Given the description of an element on the screen output the (x, y) to click on. 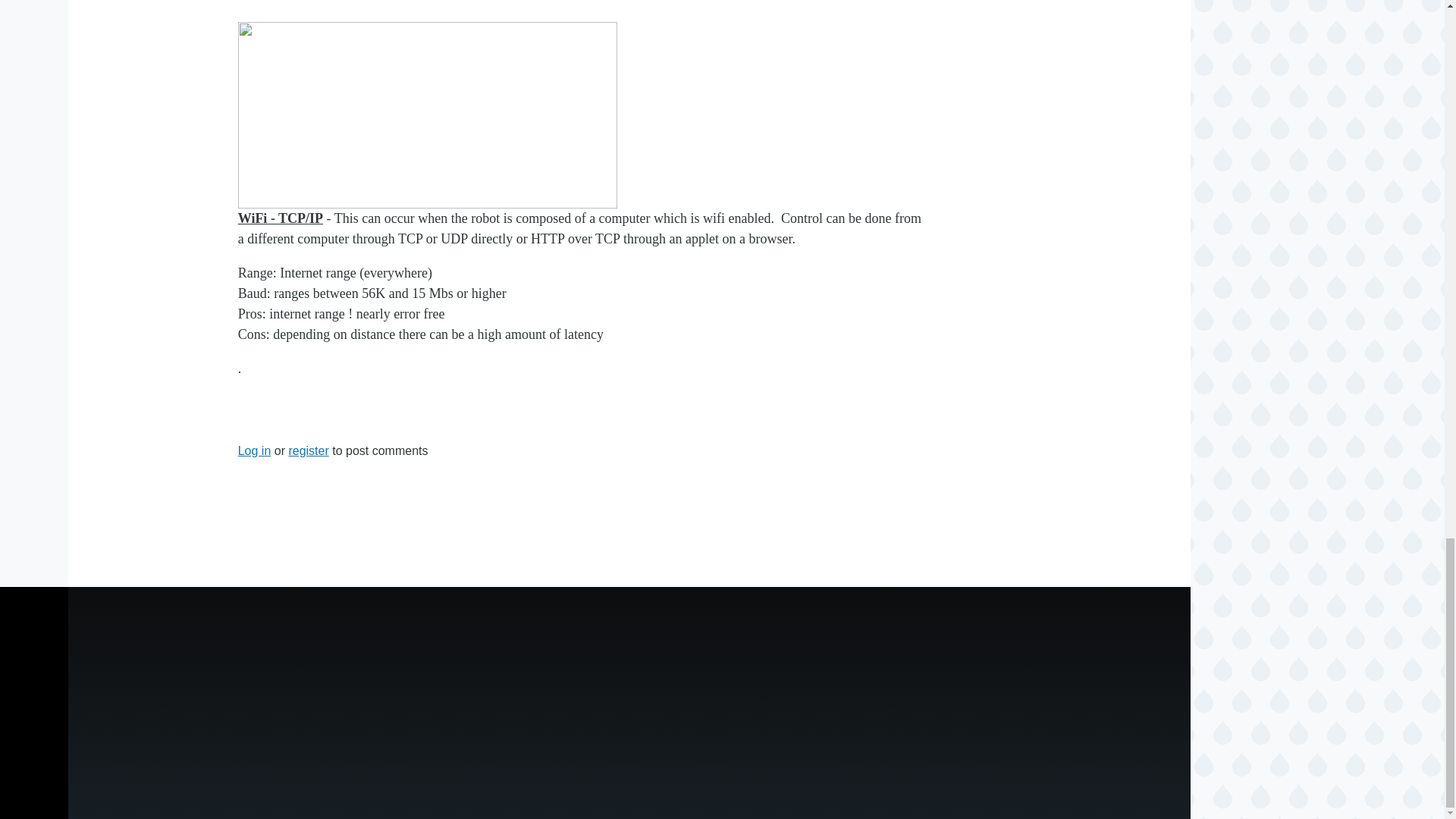
Log in (254, 450)
register (308, 450)
